Given the description of an element on the screen output the (x, y) to click on. 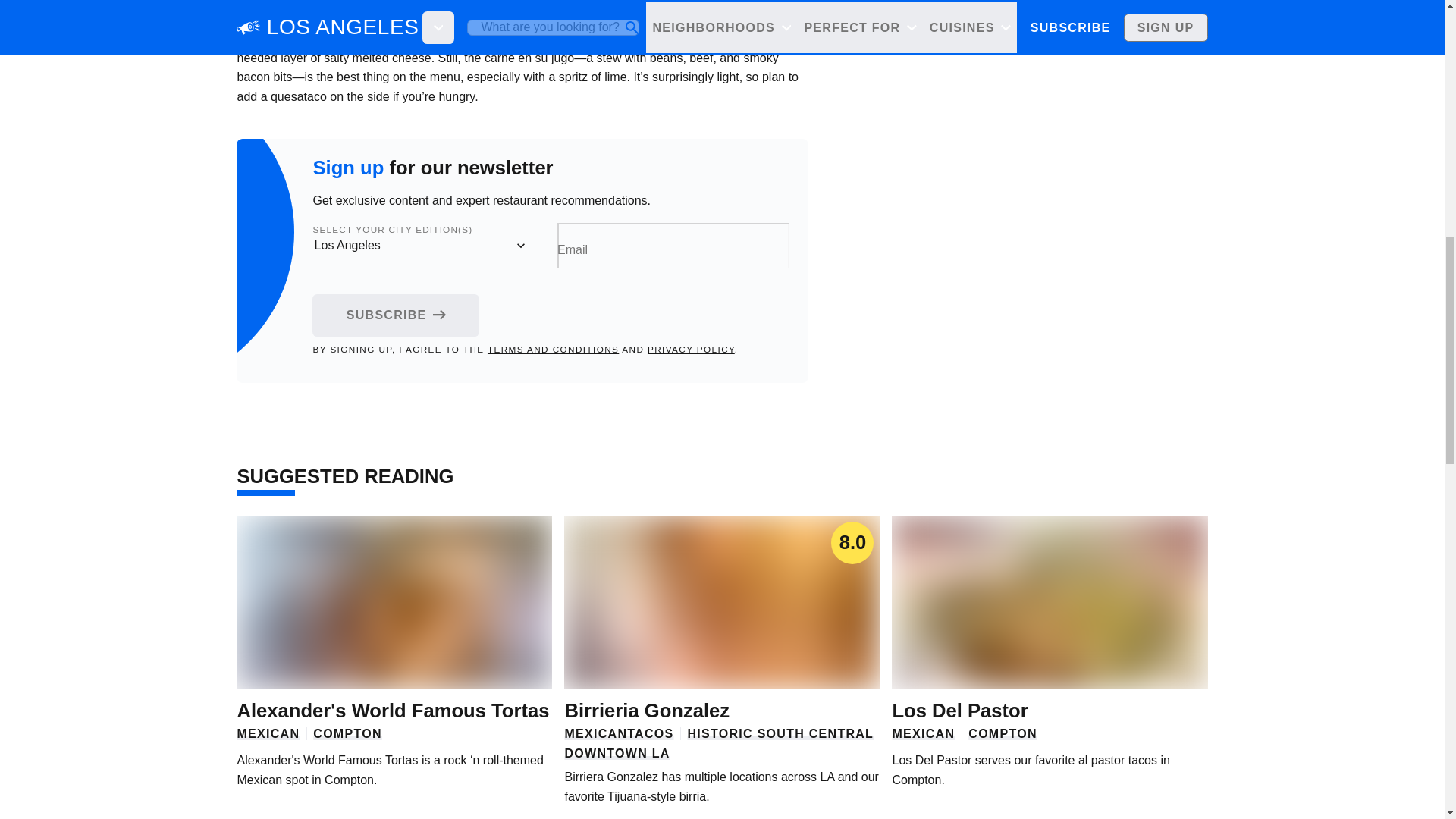
MEXICAN (267, 733)
Birrieria Gonzalez (646, 710)
COMPTON (1002, 733)
Los Del Pastor (959, 710)
HISTORIC SOUTH CENTRAL (781, 733)
COMPTON (347, 733)
TERMS AND CONDITIONS (552, 348)
MEXICAN (595, 733)
TACOS (649, 733)
MEXICAN (923, 733)
